Given the description of an element on the screen output the (x, y) to click on. 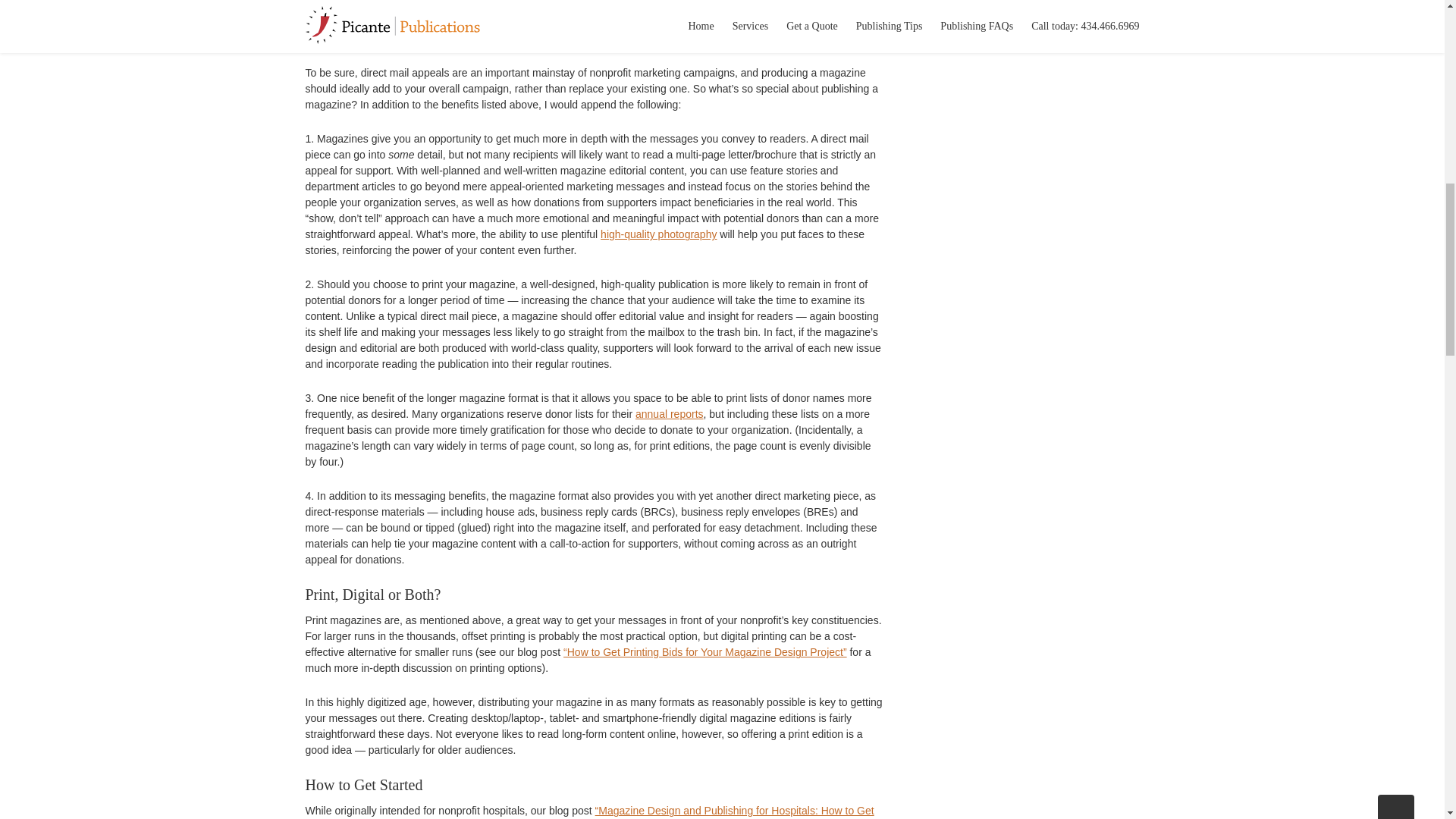
high-quality photography (657, 234)
annual reports (668, 413)
